Given the description of an element on the screen output the (x, y) to click on. 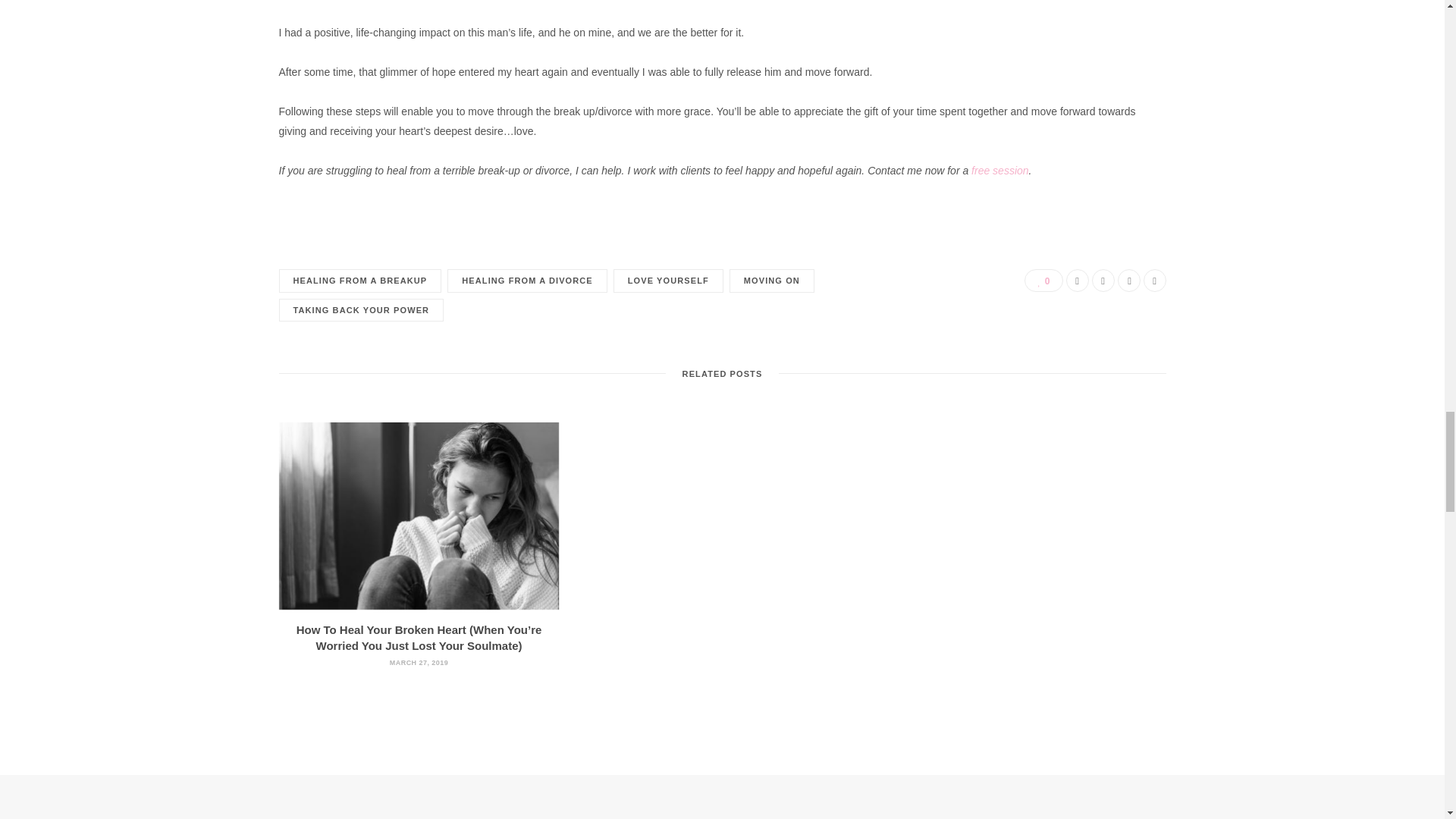
Share on Pinterest (1154, 280)
HEALING FROM A DIVORCE (526, 280)
0 (1043, 280)
LOVE YOURSELF (667, 280)
MOVING ON (771, 280)
TAKING BACK YOUR POWER (361, 310)
Share on Facebook (1077, 280)
HEALING FROM A BREAKUP (360, 280)
free session (999, 170)
Share on Twitter (1103, 280)
